Given the description of an element on the screen output the (x, y) to click on. 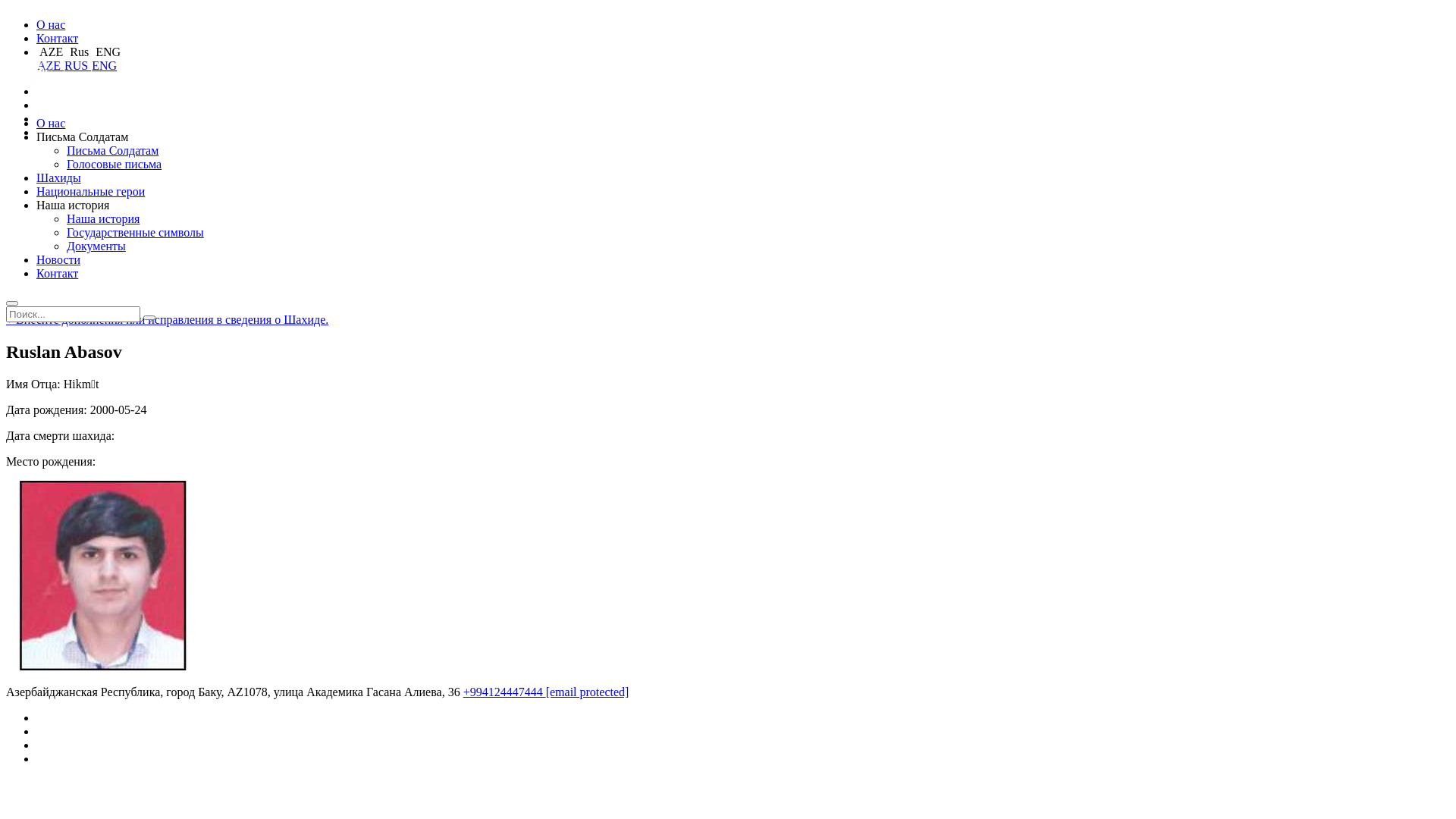
AZE Element type: text (49, 65)
+994124447444 Element type: text (504, 691)
ENG Element type: text (103, 65)
RUS Element type: text (77, 65)
[email protected] Element type: text (587, 691)
